Given the description of an element on the screen output the (x, y) to click on. 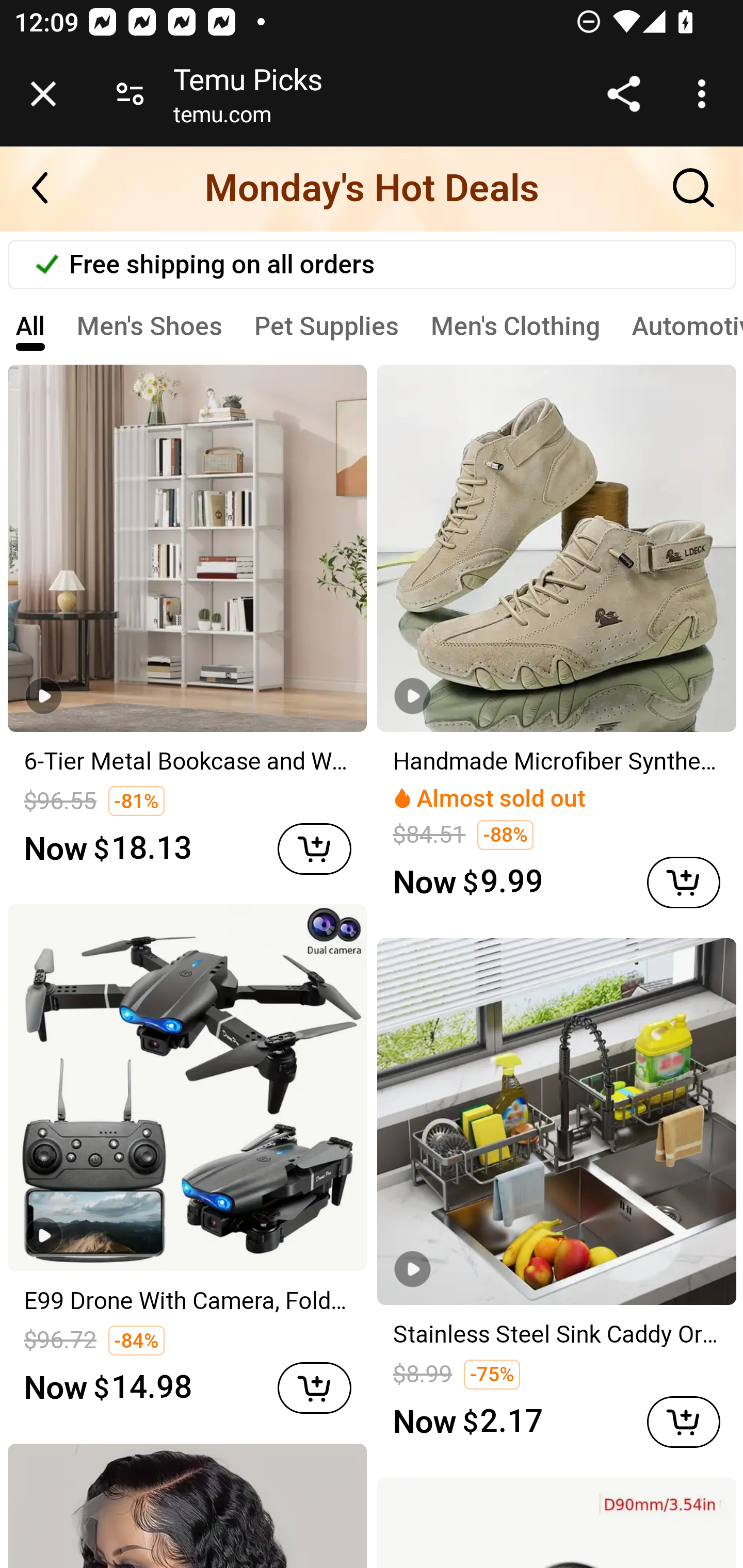
Close tab (43, 93)
Share link address (623, 93)
Customize and control Google Chrome (705, 93)
Connection is secure (129, 93)
temu.com (222, 117)
Back (50, 188)
